Given the description of an element on the screen output the (x, y) to click on. 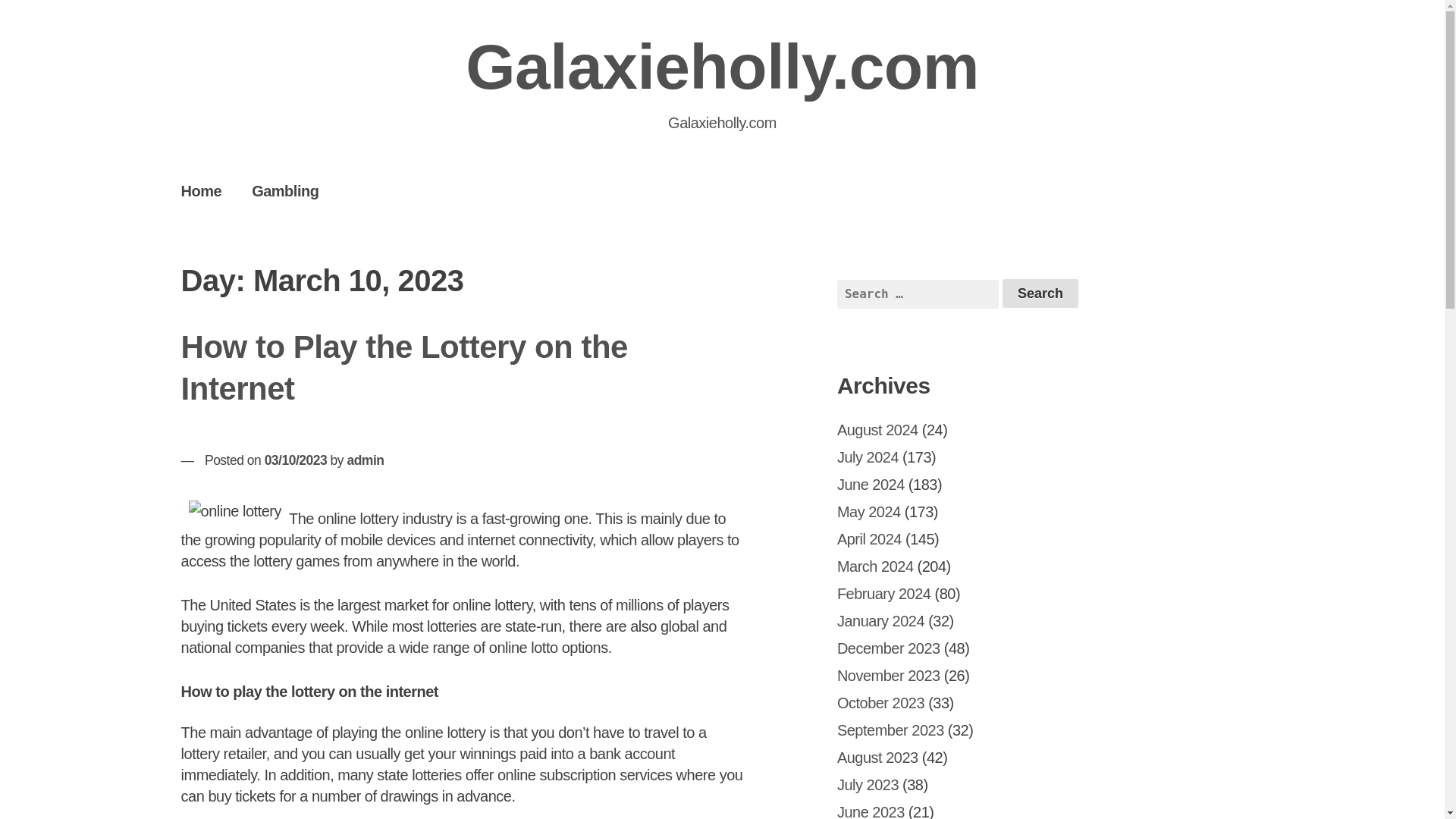
February 2024 (884, 593)
Gambling (284, 190)
Home (201, 190)
May 2024 (869, 511)
December 2023 (888, 647)
Search (1040, 293)
July 2023 (867, 784)
July 2024 (867, 457)
Search (1040, 293)
June 2023 (870, 811)
